Given the description of an element on the screen output the (x, y) to click on. 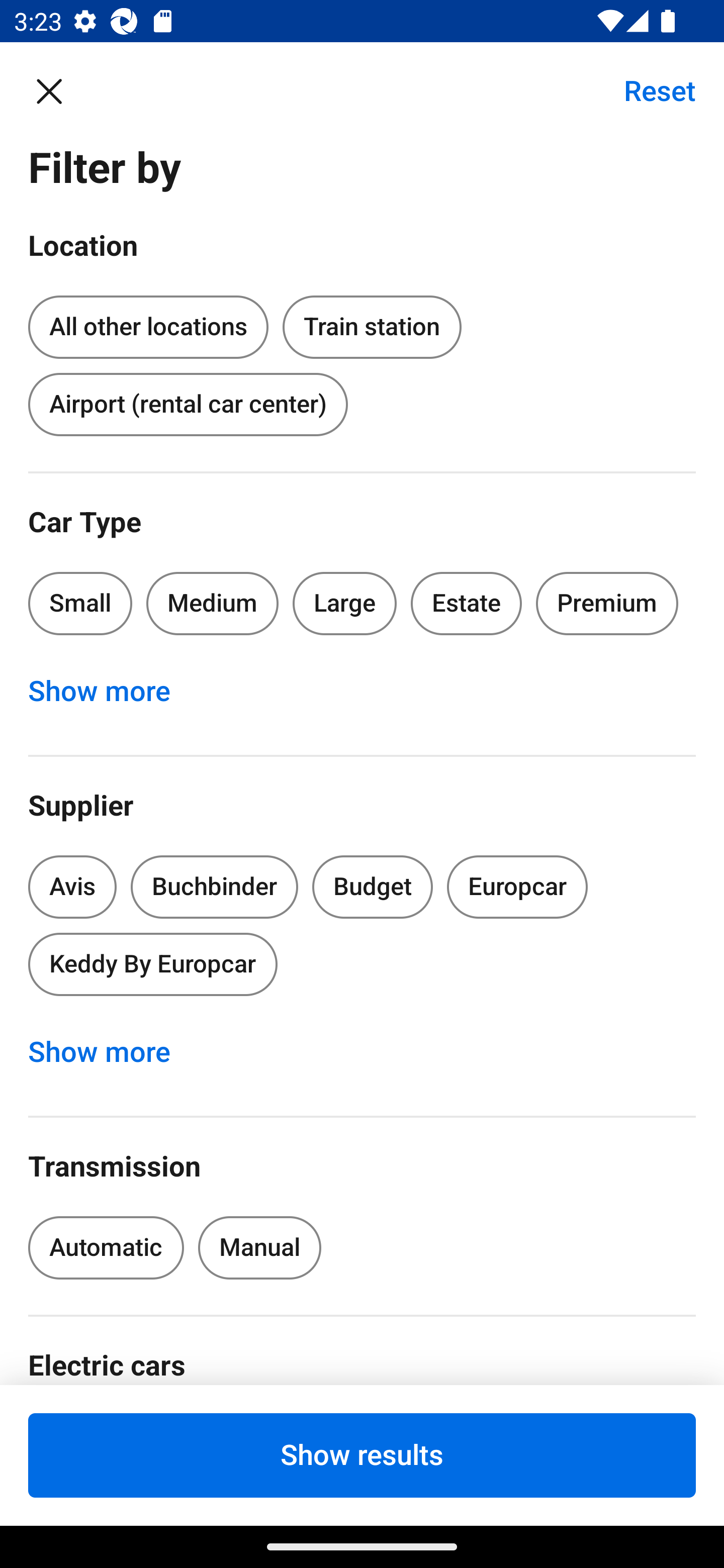
Close (59, 90)
Reset (649, 90)
All other locations (148, 323)
Train station (371, 327)
Airport (rental car center) (187, 404)
Small (80, 603)
Medium (212, 603)
Large (344, 603)
Estate (466, 603)
Premium (606, 603)
Show more (109, 691)
Avis (72, 887)
Buchbinder (214, 887)
Budget (372, 887)
Europcar (517, 887)
Keddy By Europcar (152, 963)
Show more (109, 1051)
Automatic (105, 1247)
Manual (259, 1247)
Show results (361, 1454)
